Given the description of an element on the screen output the (x, y) to click on. 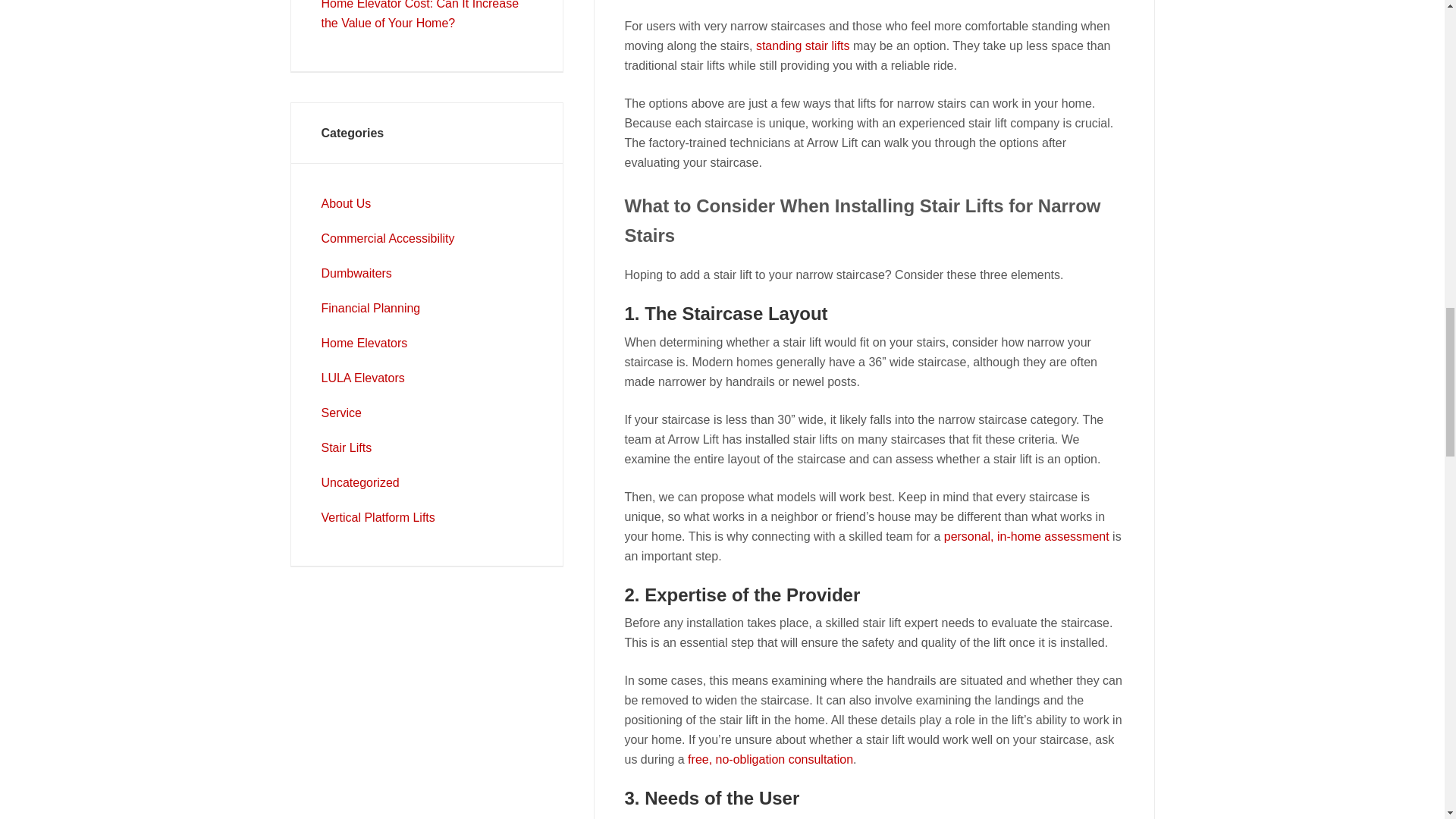
Service (341, 412)
LULA Elevators (362, 377)
Financial Planning (370, 308)
Home Elevators (364, 342)
standing stair lifts (802, 45)
free, no-obligation consultation (770, 758)
Uncategorized (359, 481)
Stair Lifts (346, 447)
personal, in-home assessment (1026, 535)
Dumbwaiters (356, 273)
